Given the description of an element on the screen output the (x, y) to click on. 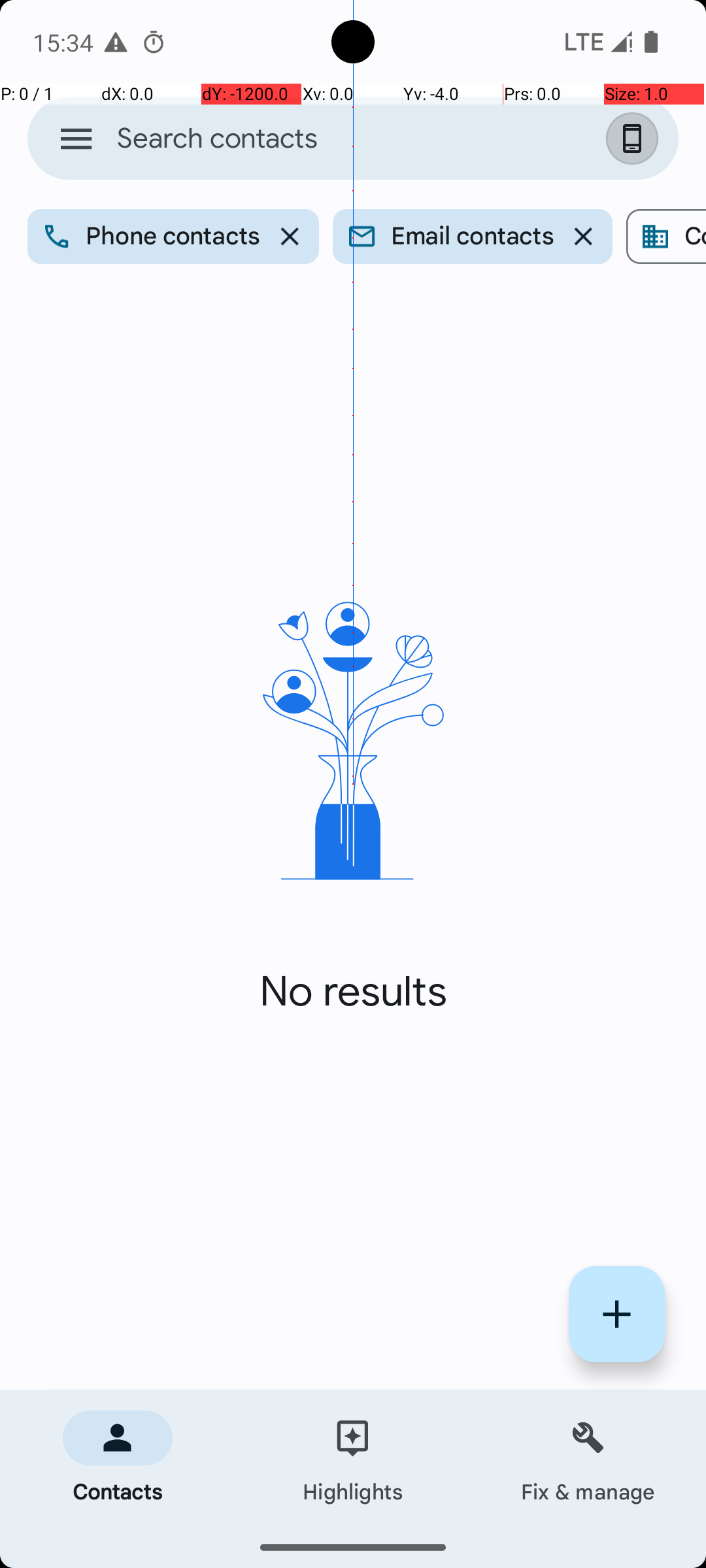
Open navigation drawer Element type: android.widget.ImageButton (75, 138)
No results Element type: android.widget.TextView (353, 991)
Phone contacts Element type: android.widget.Button (173, 236)
Email contacts Element type: android.widget.Button (472, 236)
